Given the description of an element on the screen output the (x, y) to click on. 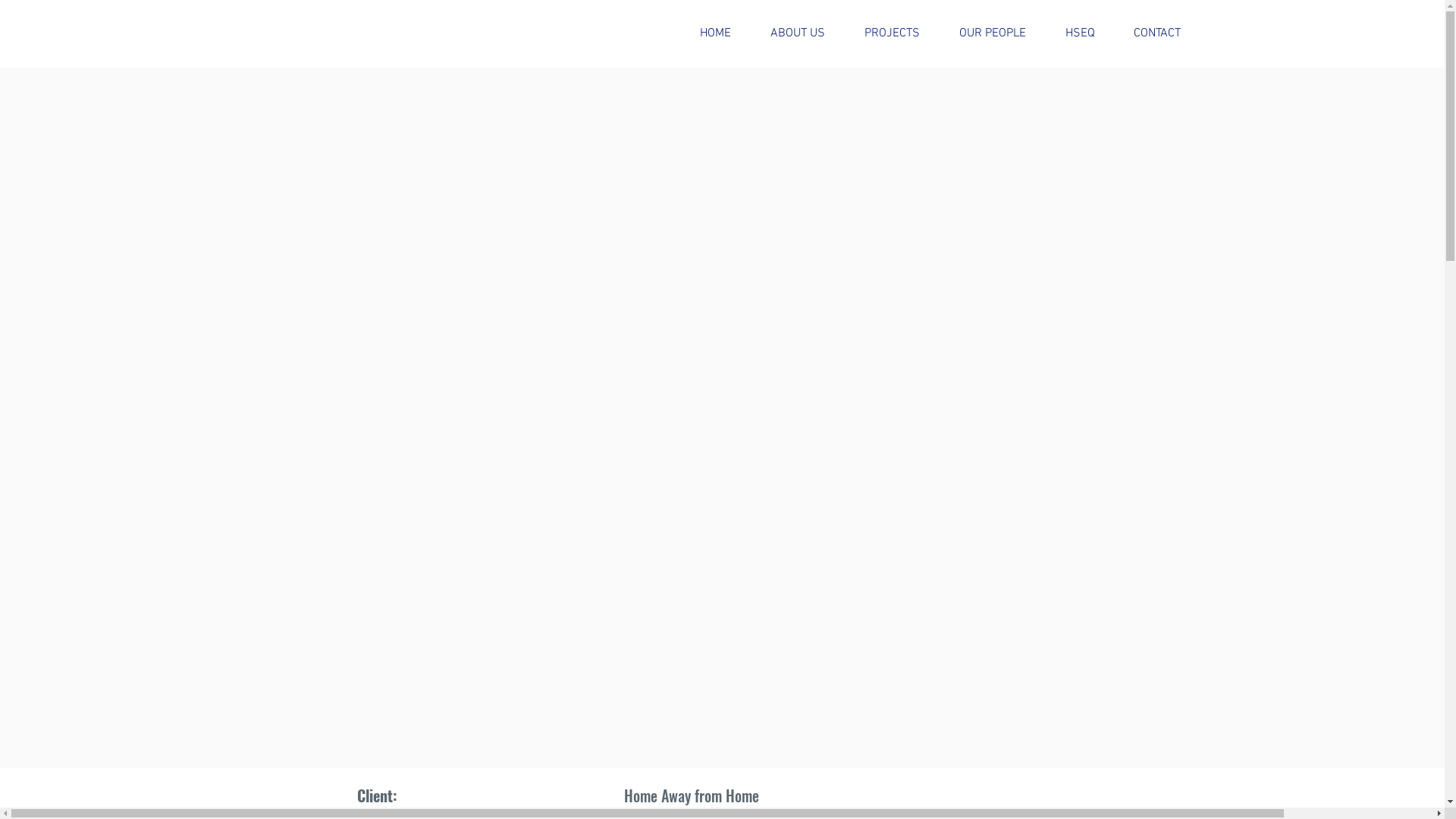
OUR PEOPLE Element type: text (992, 33)
ABOUT US Element type: text (797, 33)
PROJECTS Element type: text (891, 33)
HOME Element type: text (715, 33)
CONTACT Element type: text (1157, 33)
HSEQ Element type: text (1079, 33)
